Given the description of an element on the screen output the (x, y) to click on. 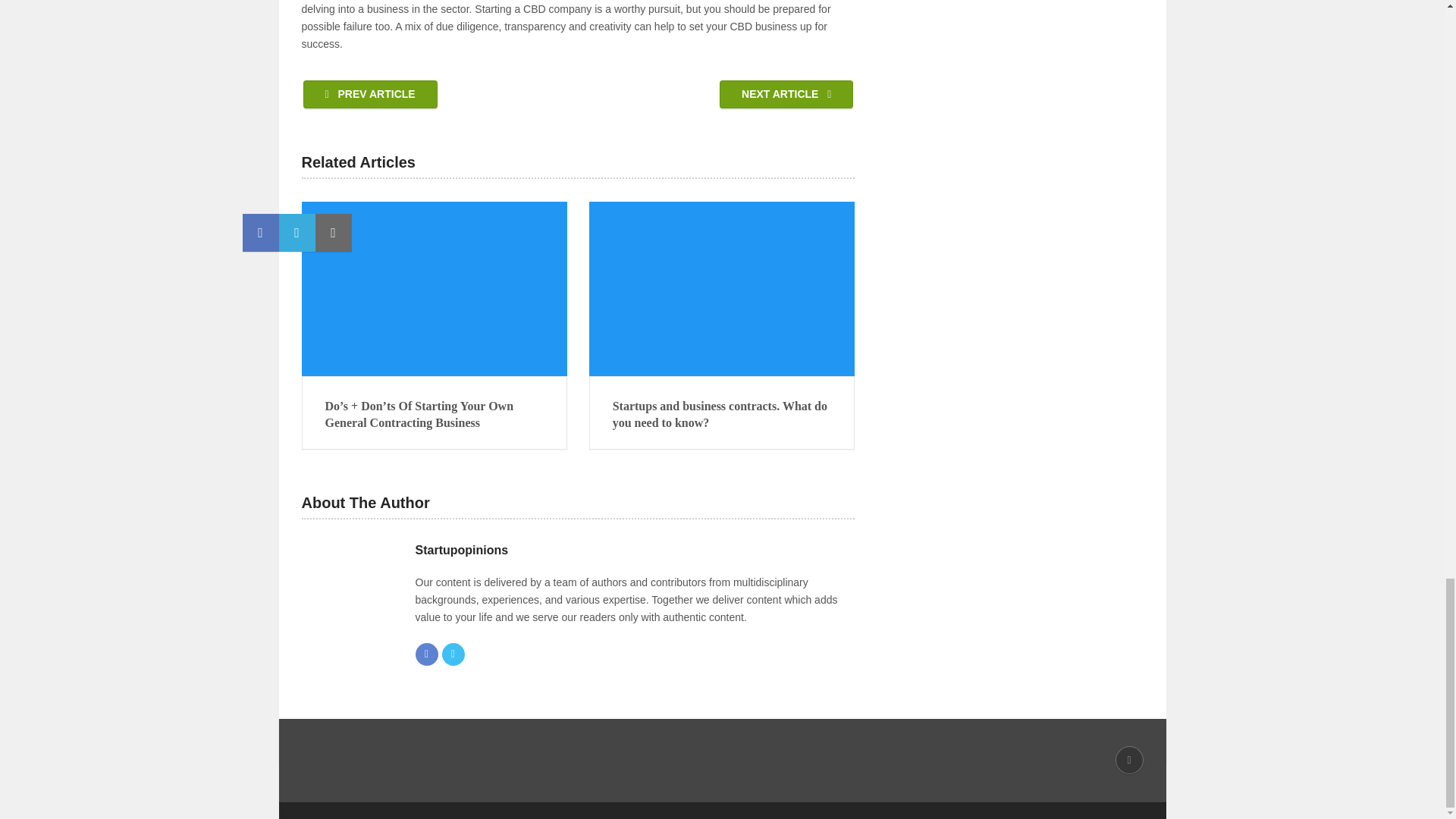
Startups and business contracts. What do you need to know? (721, 288)
Startups and business contracts. What do you need to know? (721, 415)
NEXT ARTICLE (786, 94)
 Startup stories and startup information (420, 792)
Startups and business contracts. What do you need to know? (721, 415)
Startupopinions (461, 550)
PREV ARTICLE (370, 94)
Startup Opinions (420, 792)
